Given the description of an element on the screen output the (x, y) to click on. 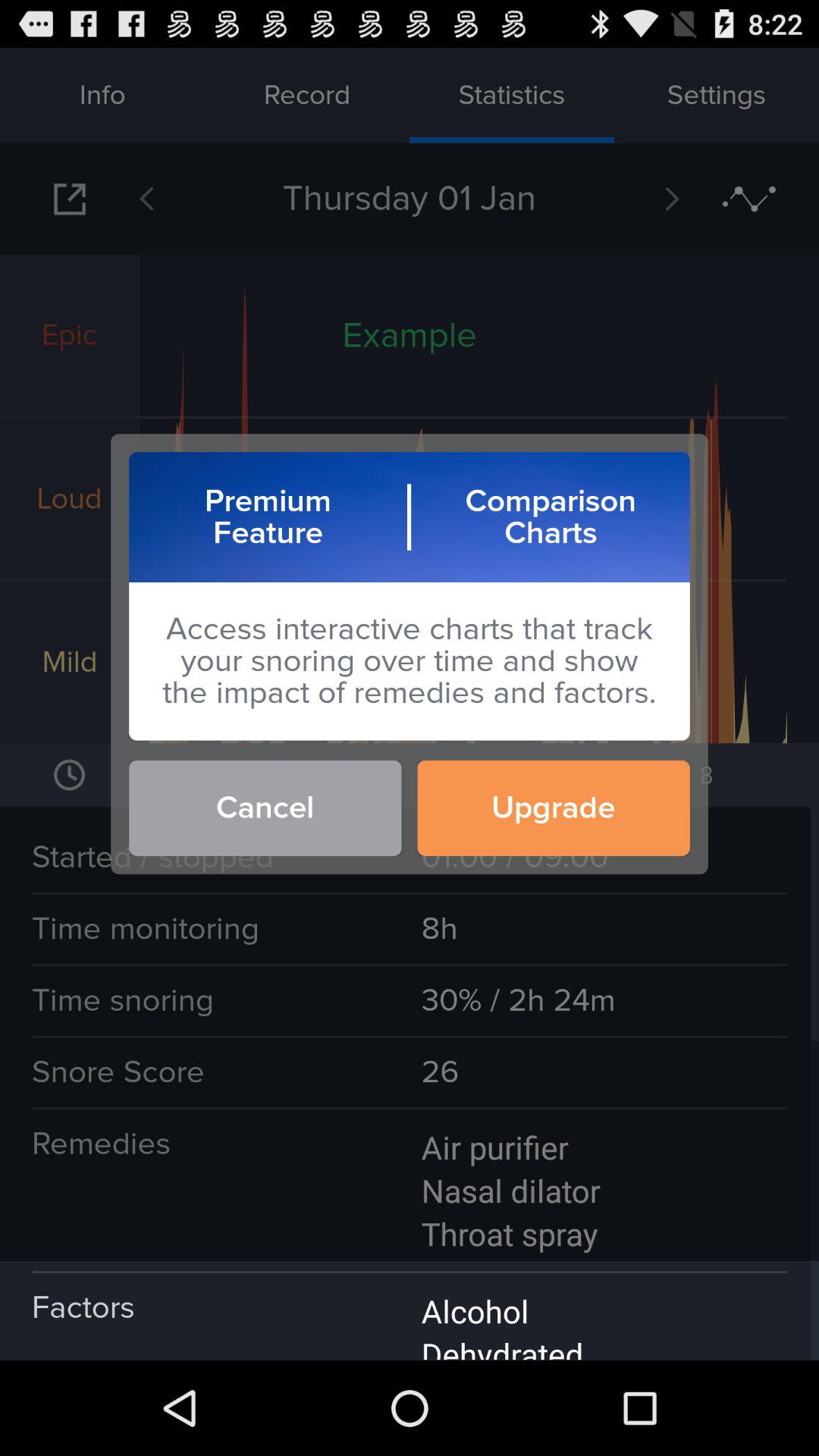
choose the icon at the bottom (409, 1310)
